Given the description of an element on the screen output the (x, y) to click on. 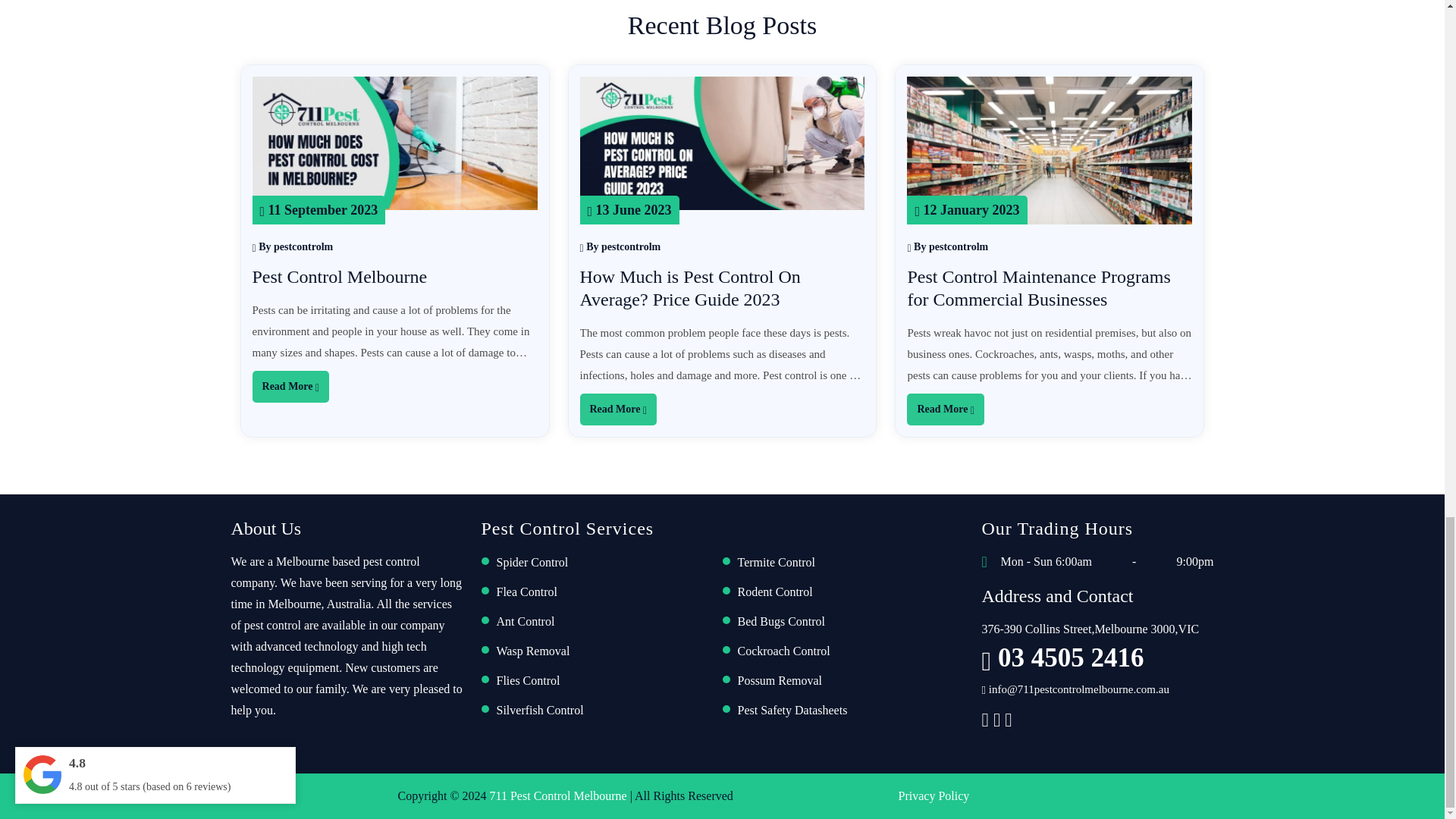
Pest Control Maintenance Programs for Commercial Businesses (1038, 287)
Pest Control Melbourne (339, 276)
How Much is Pest Control On Average? Price Guide 2023 (689, 287)
